Given the description of an element on the screen output the (x, y) to click on. 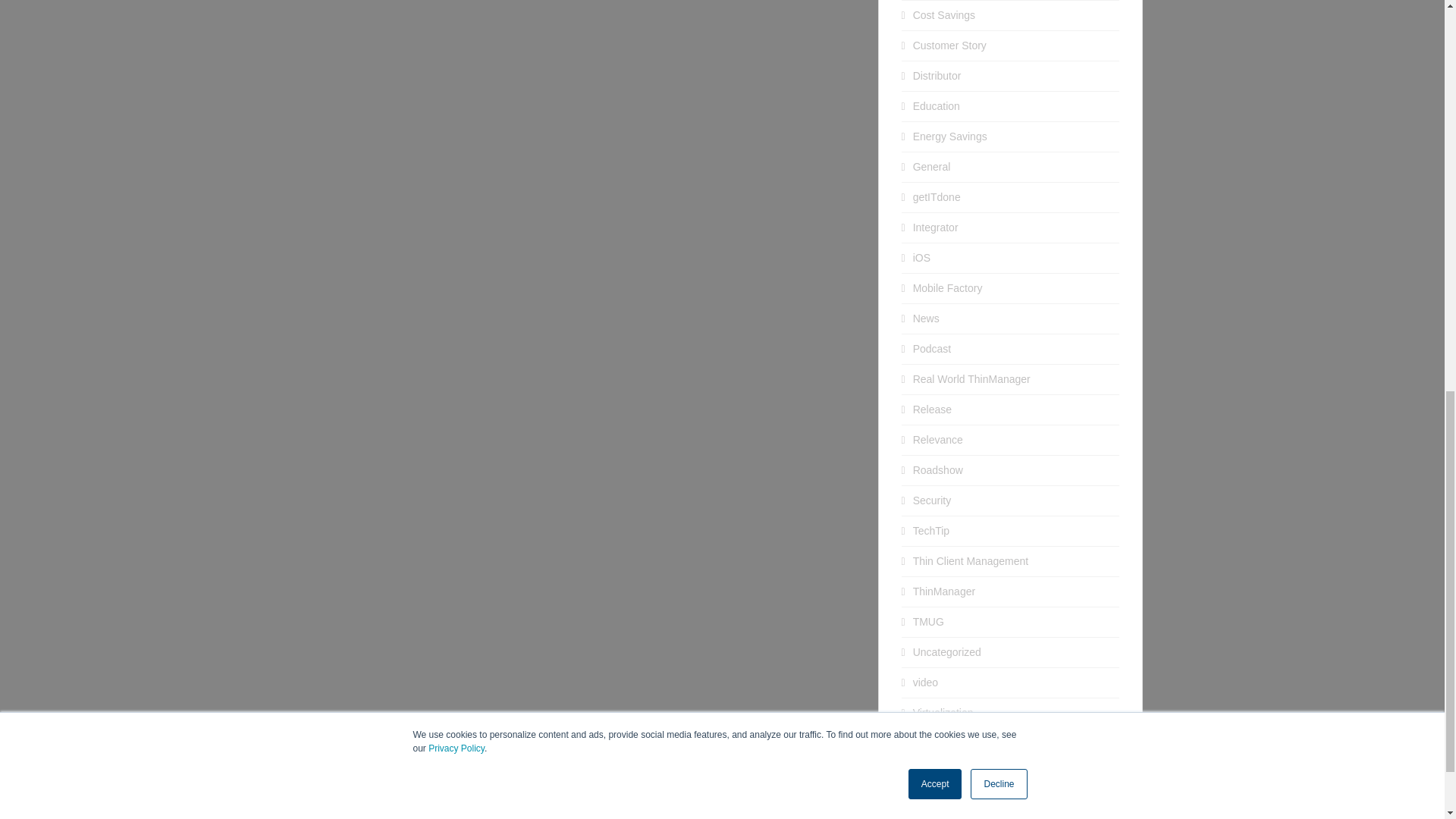
General (931, 166)
Distributor (936, 75)
News (925, 318)
Release (932, 409)
iOS (921, 257)
Education (935, 105)
Podcast (932, 348)
getITdone (936, 196)
Integrator (935, 227)
Real World ThinManager (971, 378)
Energy Savings (949, 136)
Customer Story (949, 45)
Mobile Factory (947, 287)
Cost Savings (943, 15)
